Given the description of an element on the screen output the (x, y) to click on. 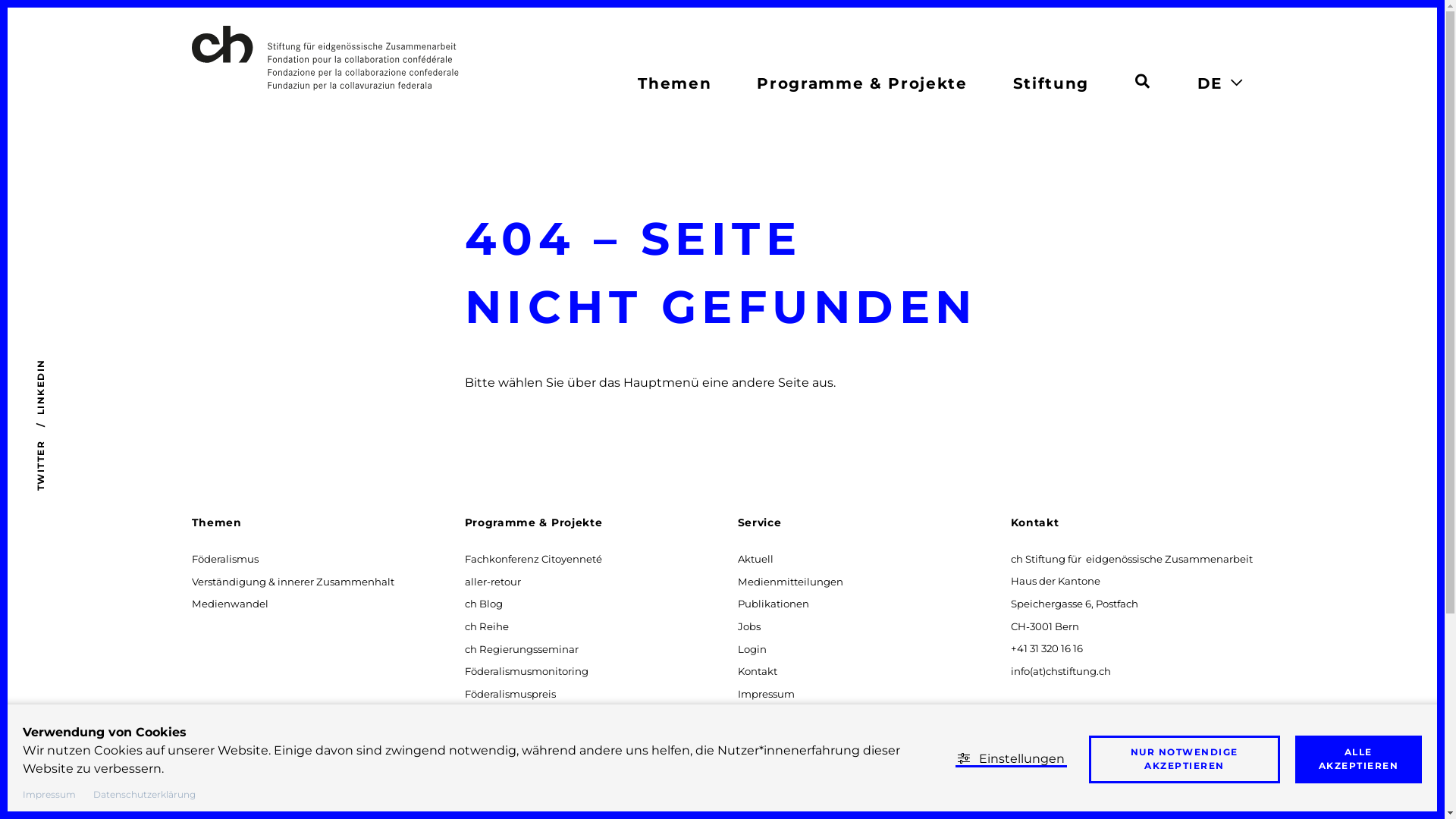
info(at)chstiftung.ch Element type: text (1060, 670)
Kontakt Element type: text (756, 670)
Home Element type: text (396, 58)
Impressum Element type: text (49, 793)
Programme & Projekte Element type: text (533, 522)
Suche Element type: hover (1142, 80)
Jobs Element type: text (748, 625)
NUR NOTWENDIGE AKZEPTIEREN Element type: text (1184, 759)
Themen Element type: text (216, 522)
ch Reihe Element type: text (486, 625)
ALLE AKZEPTIEREN Element type: text (1358, 759)
ch Regierungsseminar Element type: text (521, 648)
Medienmitteilungen Element type: text (789, 581)
Premier Emploi Element type: text (503, 783)
Login Element type: text (751, 648)
Suche Element type: text (1141, 78)
Medienwandel Element type: text (229, 603)
Haus der Kantone Element type: text (508, 738)
aller-retour Element type: text (492, 581)
Einstellungen Element type: text (1010, 758)
Datenschutz Element type: text (769, 716)
Aktuell Element type: text (755, 558)
DE Element type: text (1209, 83)
Impressum Element type: text (765, 693)
ch Blog Element type: text (483, 603)
Publikationen Element type: text (772, 603)
